Given the description of an element on the screen output the (x, y) to click on. 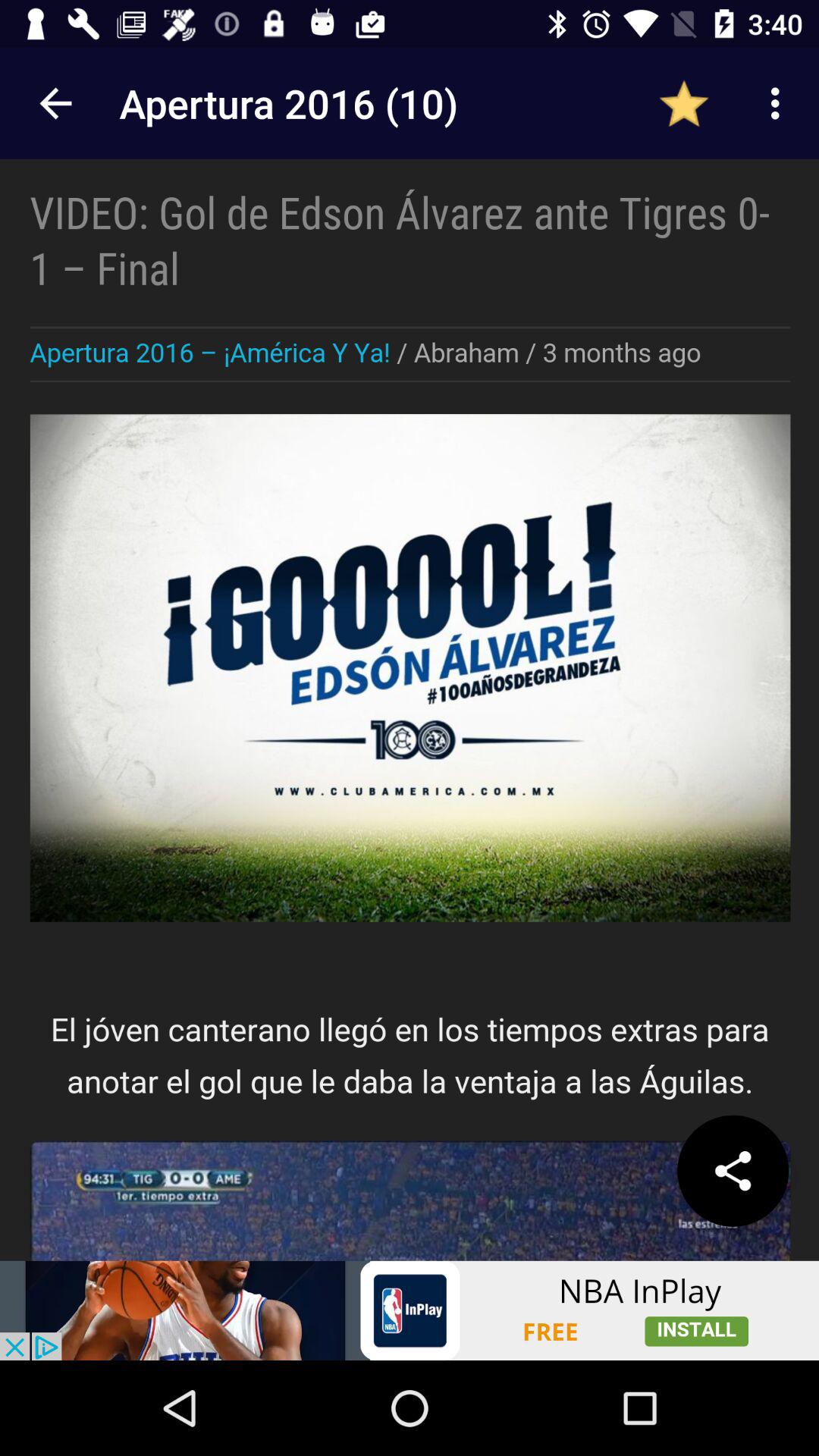
setting (733, 1171)
